Given the description of an element on the screen output the (x, y) to click on. 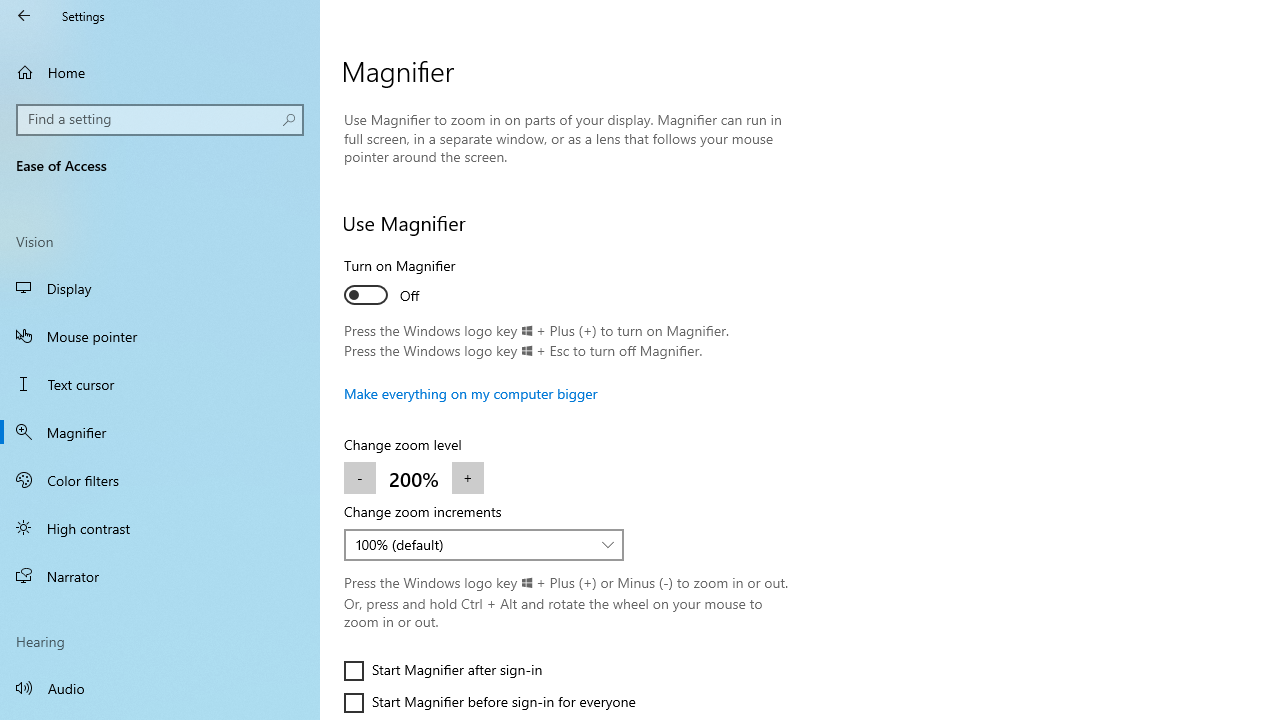
Color filters (160, 479)
Change zoom increments (484, 544)
Magnifier (160, 431)
100% (default) (473, 543)
